Given the description of an element on the screen output the (x, y) to click on. 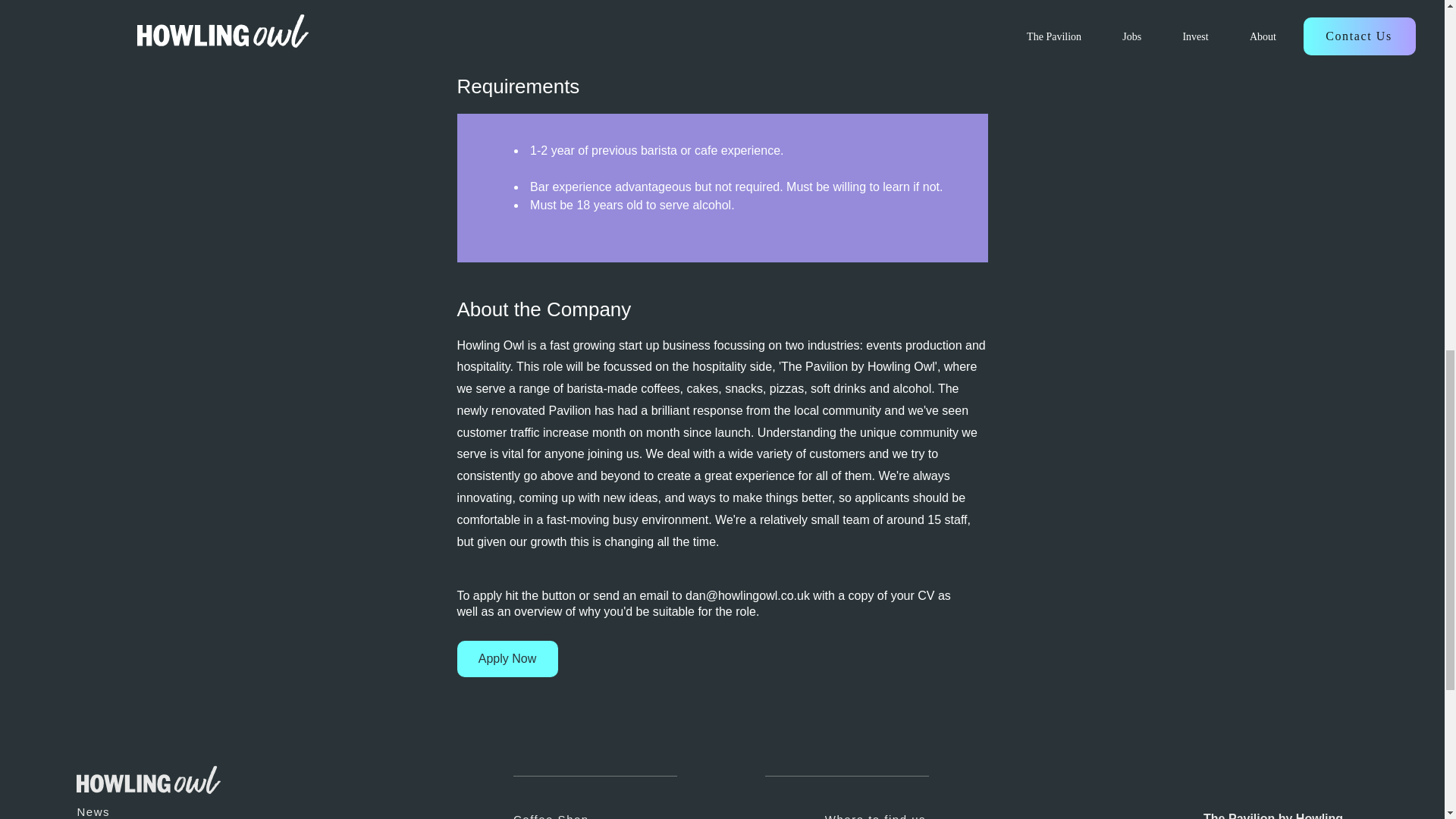
Where to find us (826, 811)
Apply Now (507, 658)
News (141, 807)
Coffee Shop (615, 811)
